Given the description of an element on the screen output the (x, y) to click on. 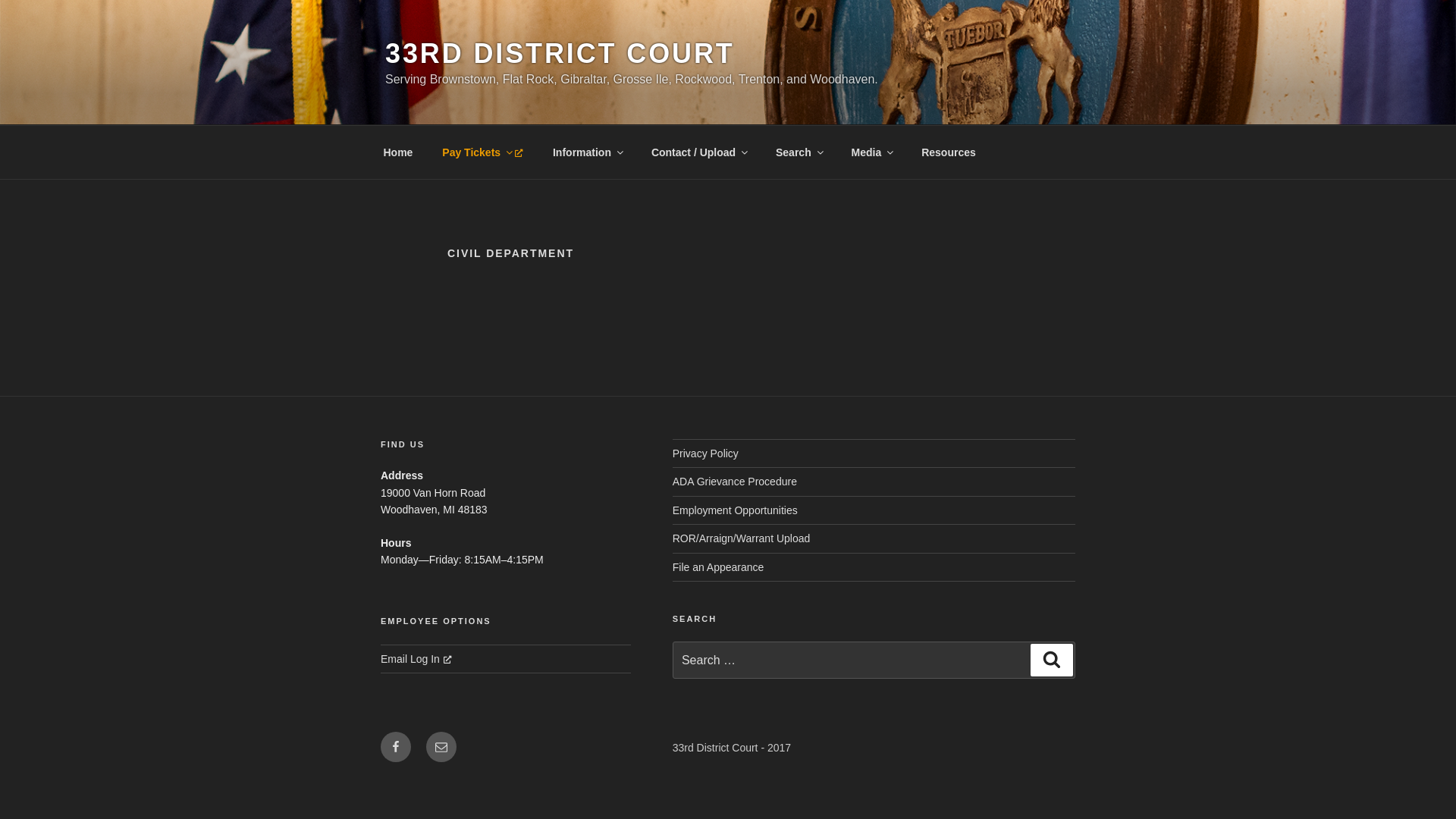
Search Element type: text (798, 151)
Employment Opportunities Element type: text (734, 510)
Resources Element type: text (948, 151)
33rd District Court - 2017 Element type: text (731, 747)
ADA Grievance Procedure Element type: text (734, 481)
ROR/Arraign/Warrant Upload Element type: text (741, 538)
Information Element type: text (586, 151)
Email Log In Element type: text (415, 658)
Media Element type: text (871, 151)
Home Element type: text (398, 151)
File an Appearance Element type: text (718, 567)
Search Element type: text (1051, 659)
Privacy Policy Element type: text (705, 453)
Facebook Element type: text (395, 746)
Pay Tickets Element type: text (482, 151)
Contact / Upload Element type: text (698, 151)
33RD DISTRICT COURT Element type: text (559, 53)
Email Element type: text (441, 746)
